Given the description of an element on the screen output the (x, y) to click on. 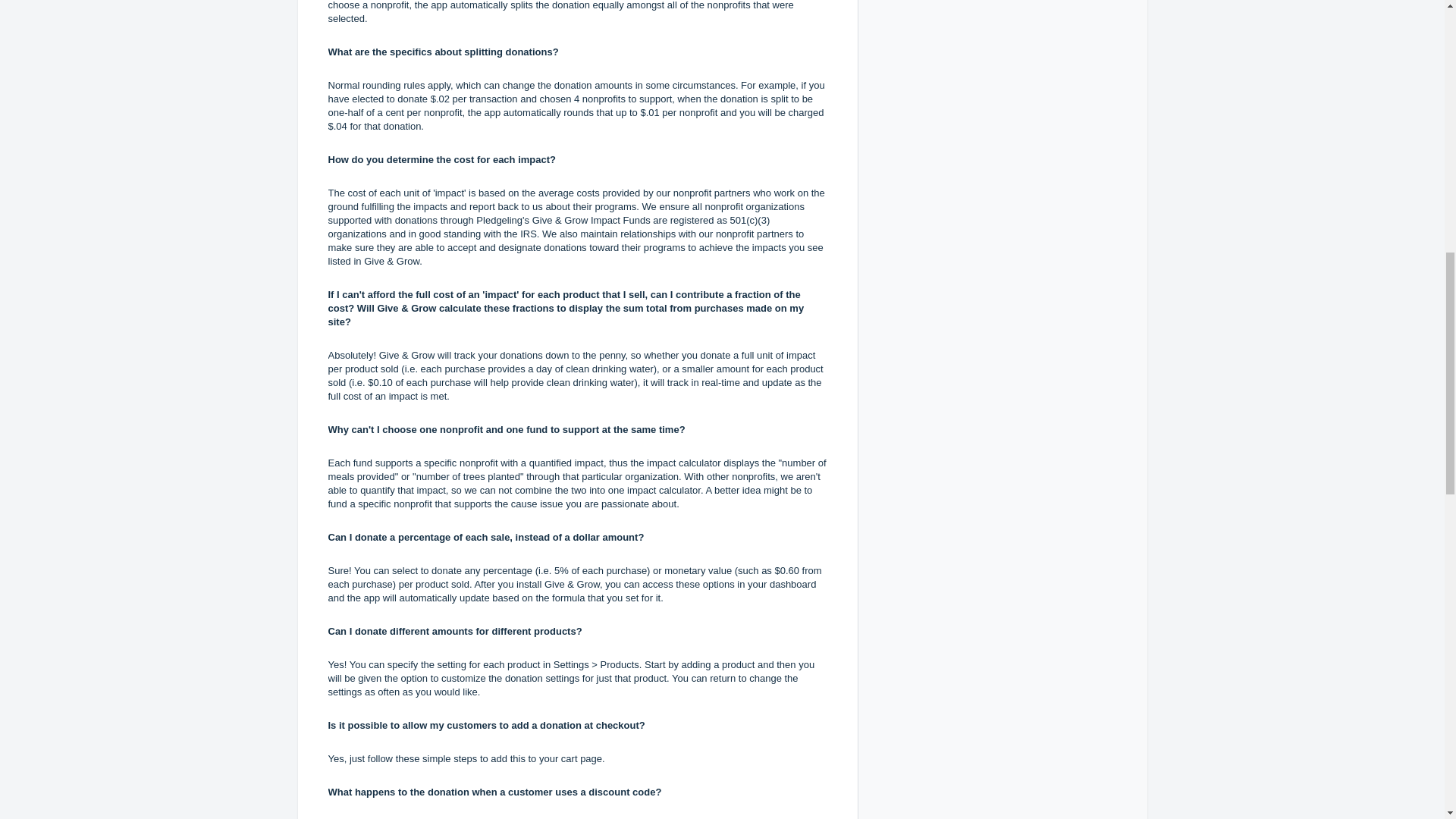
these simple steps (436, 758)
